Given the description of an element on the screen output the (x, y) to click on. 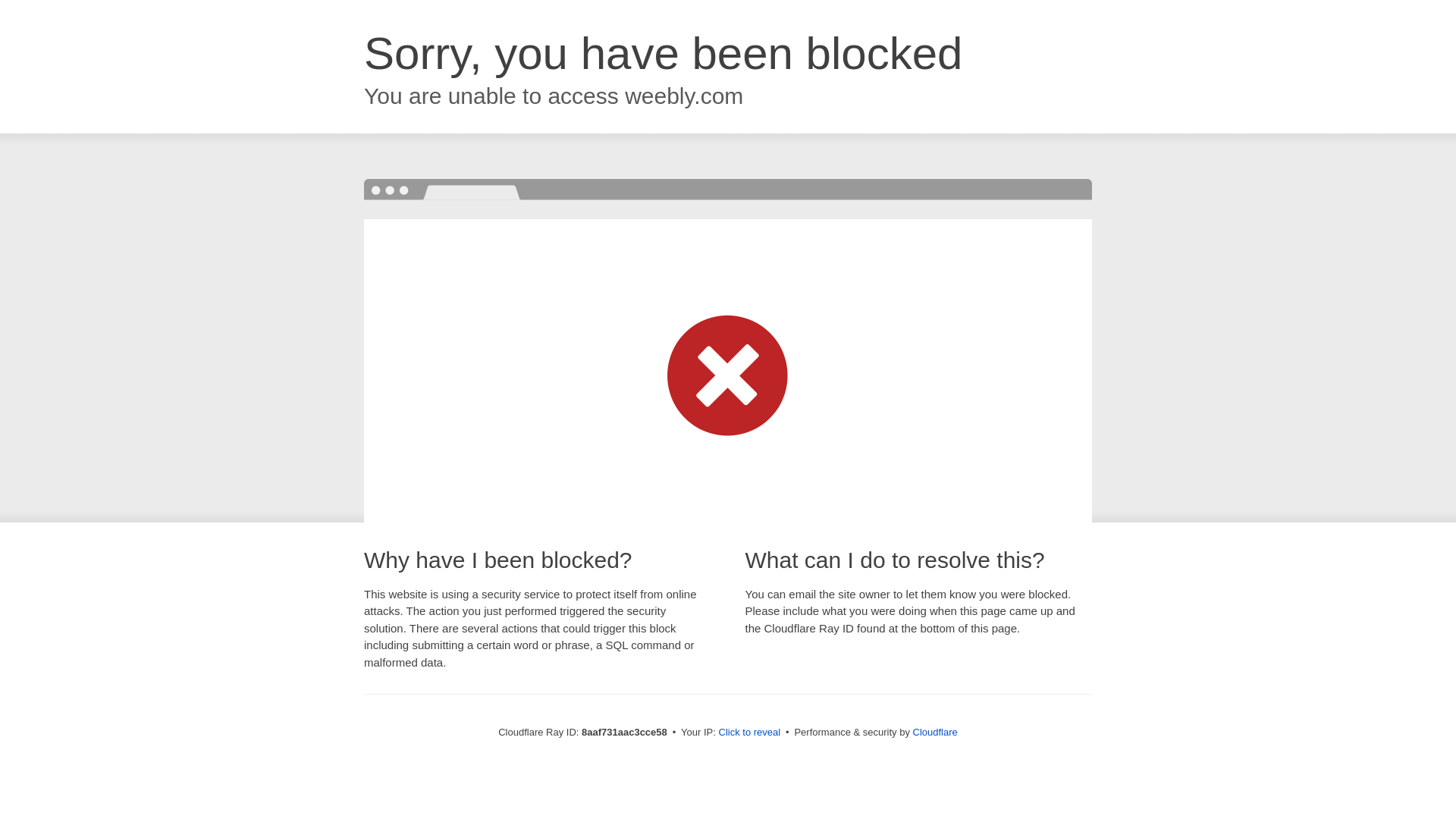
Cloudflare (935, 731)
Click to reveal (749, 732)
